Given the description of an element on the screen output the (x, y) to click on. 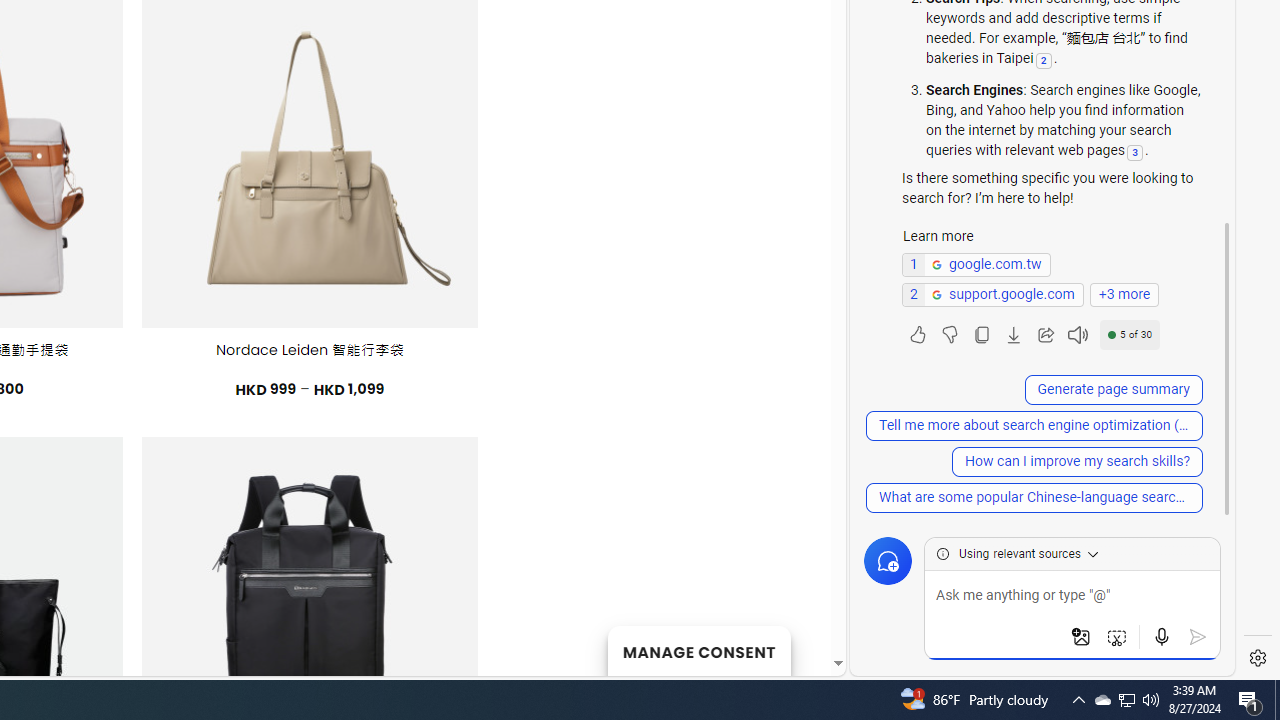
MANAGE CONSENT (698, 650)
